Given the description of an element on the screen output the (x, y) to click on. 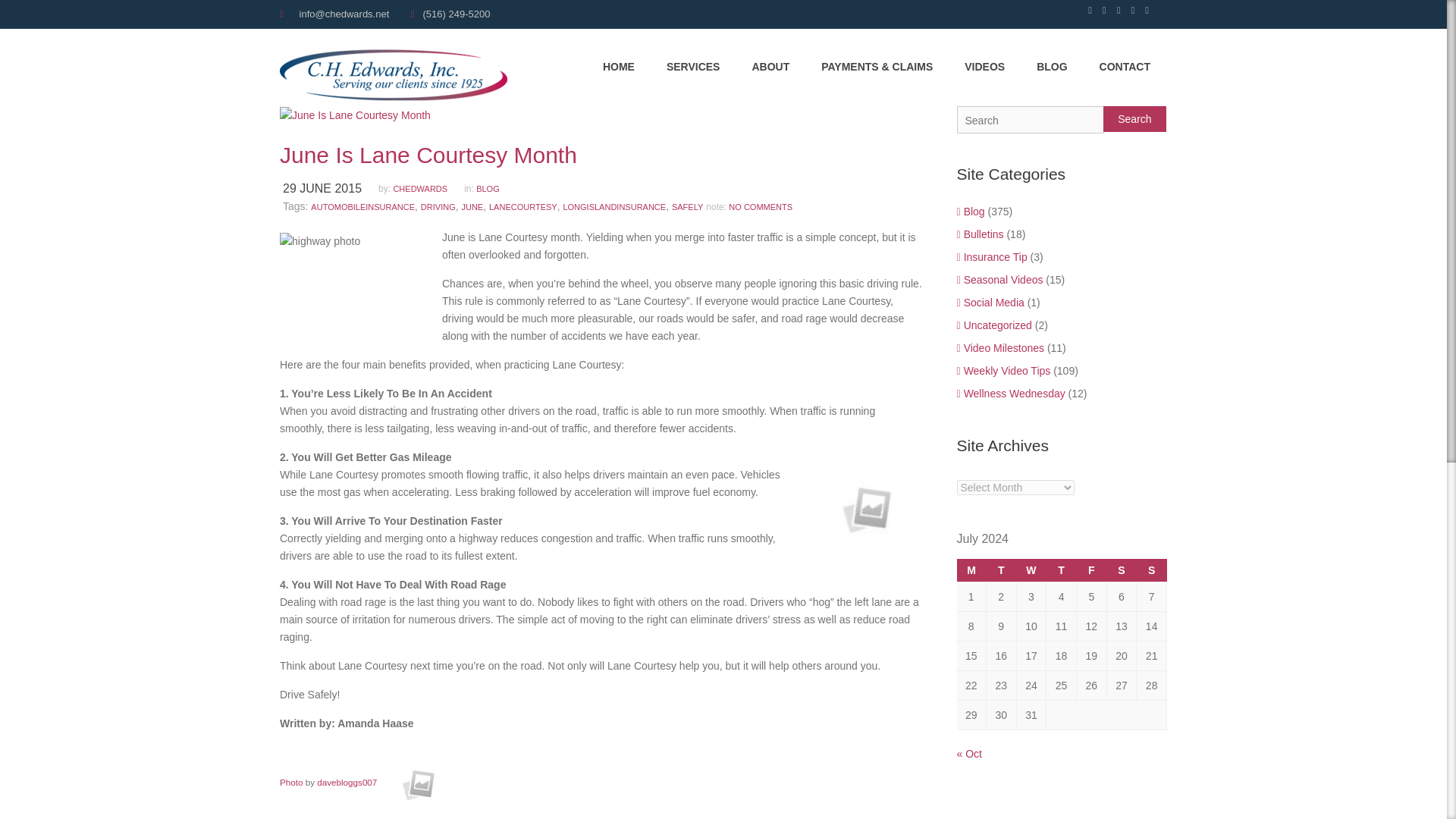
Attribution License (417, 782)
Image inserted by the ImageInject WordPress plugin (290, 782)
Click to leave a comment (760, 206)
Saturday (1121, 570)
Sunday (1152, 570)
ABOUT (770, 67)
IMA by Bill Selak (864, 509)
SERVICES (693, 67)
Search (1134, 118)
Tuesday (1000, 570)
Photo by Unsplash (353, 273)
View all posts by chedwards (427, 188)
Permalink to June Is Lane Courtesy Month (601, 154)
Thursday (1061, 570)
Friday (1090, 570)
